Given the description of an element on the screen output the (x, y) to click on. 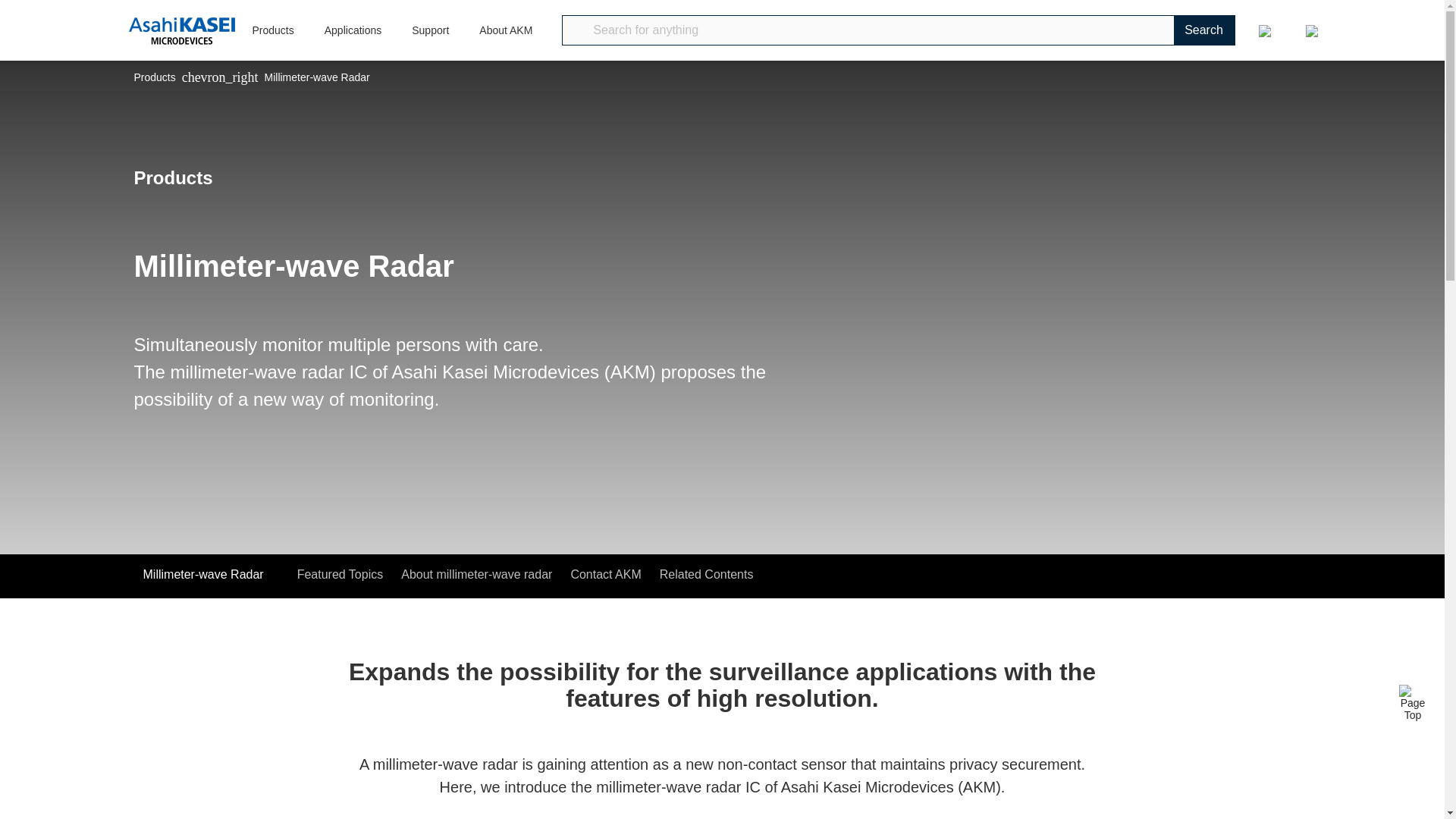
Support (430, 42)
About AKM (505, 42)
Products (271, 42)
Applications (352, 42)
